Given the description of an element on the screen output the (x, y) to click on. 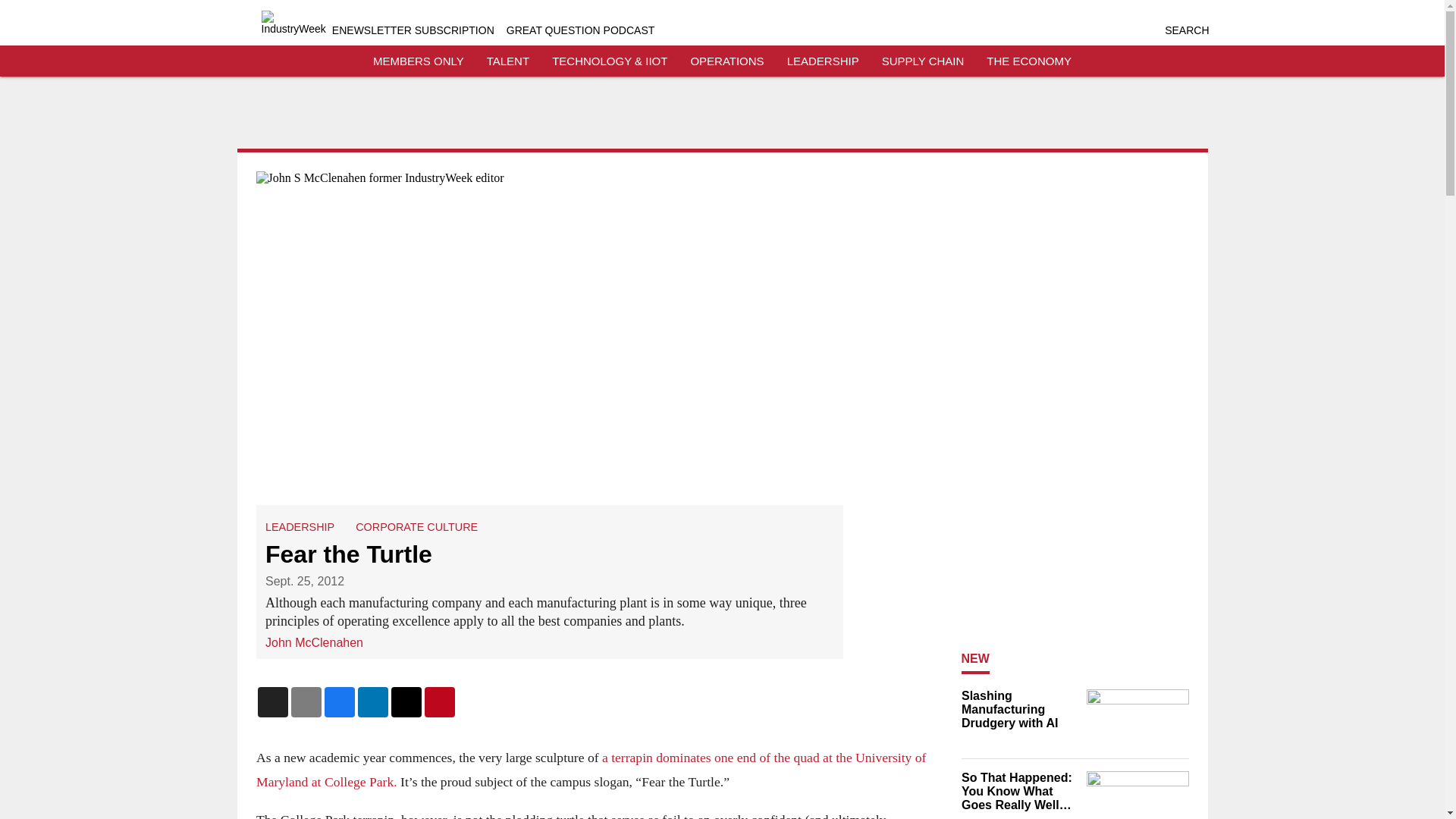
John McClenahen (313, 642)
OPERATIONS (726, 60)
GREAT QUESTION PODCAST (580, 30)
LEADERSHIP (299, 526)
ENEWSLETTER SUBSCRIPTION (413, 30)
MEMBERS ONLY (418, 60)
Slashing Manufacturing Drudgery with AI (1019, 709)
THE ECONOMY (1029, 60)
SUPPLY CHAIN (922, 60)
